Given the description of an element on the screen output the (x, y) to click on. 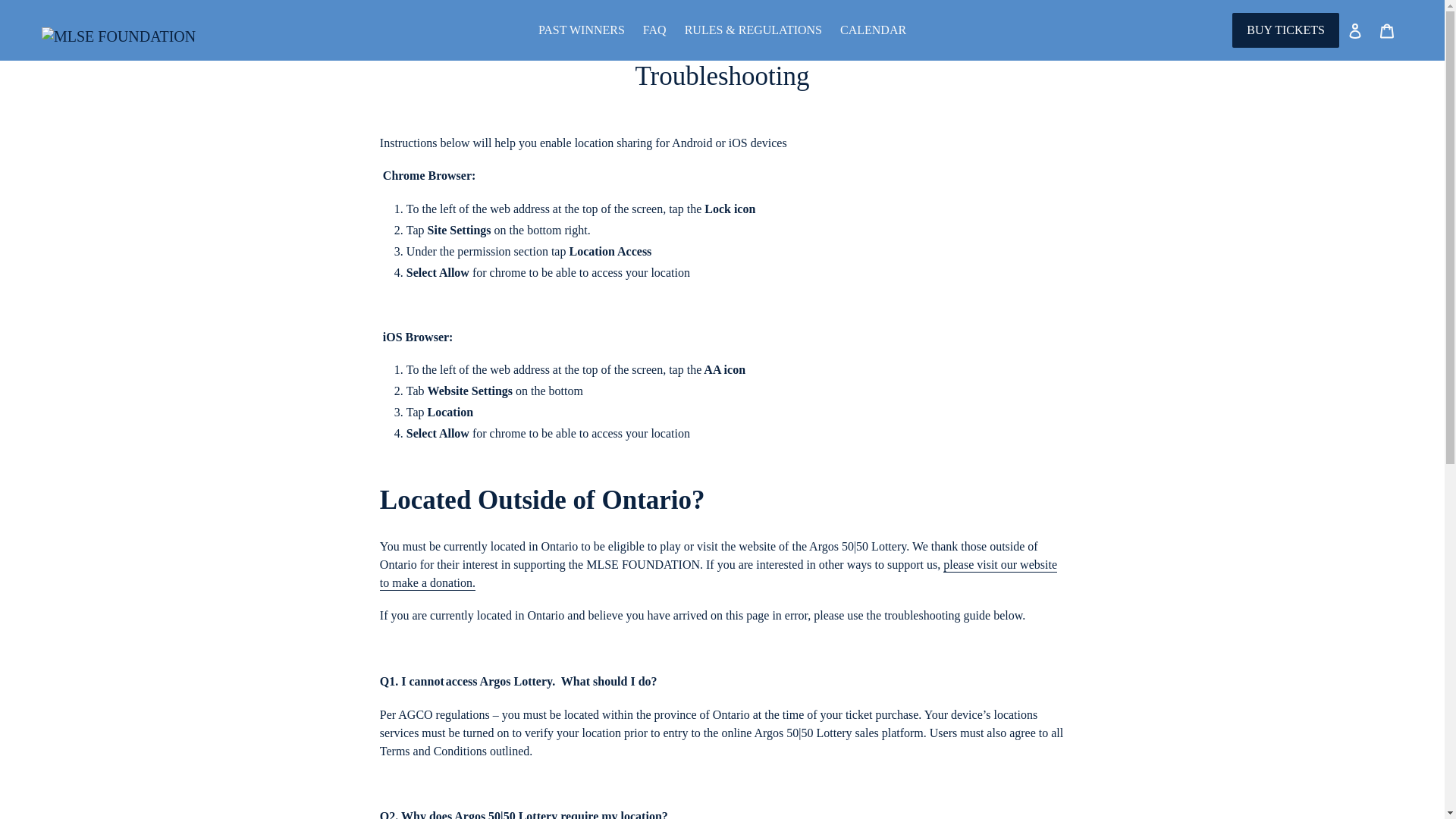
Log in Element type: text (1355, 30)
please visit our website to make a donation. Element type: text (718, 574)
PAST WINNERS Element type: text (581, 29)
RULES & REGULATIONS Element type: text (753, 29)
FAQ Element type: text (654, 29)
CALENDAR Element type: text (872, 29)
Cart Element type: text (1386, 30)
BUY TICKETS Element type: text (1285, 29)
